Given the description of an element on the screen output the (x, y) to click on. 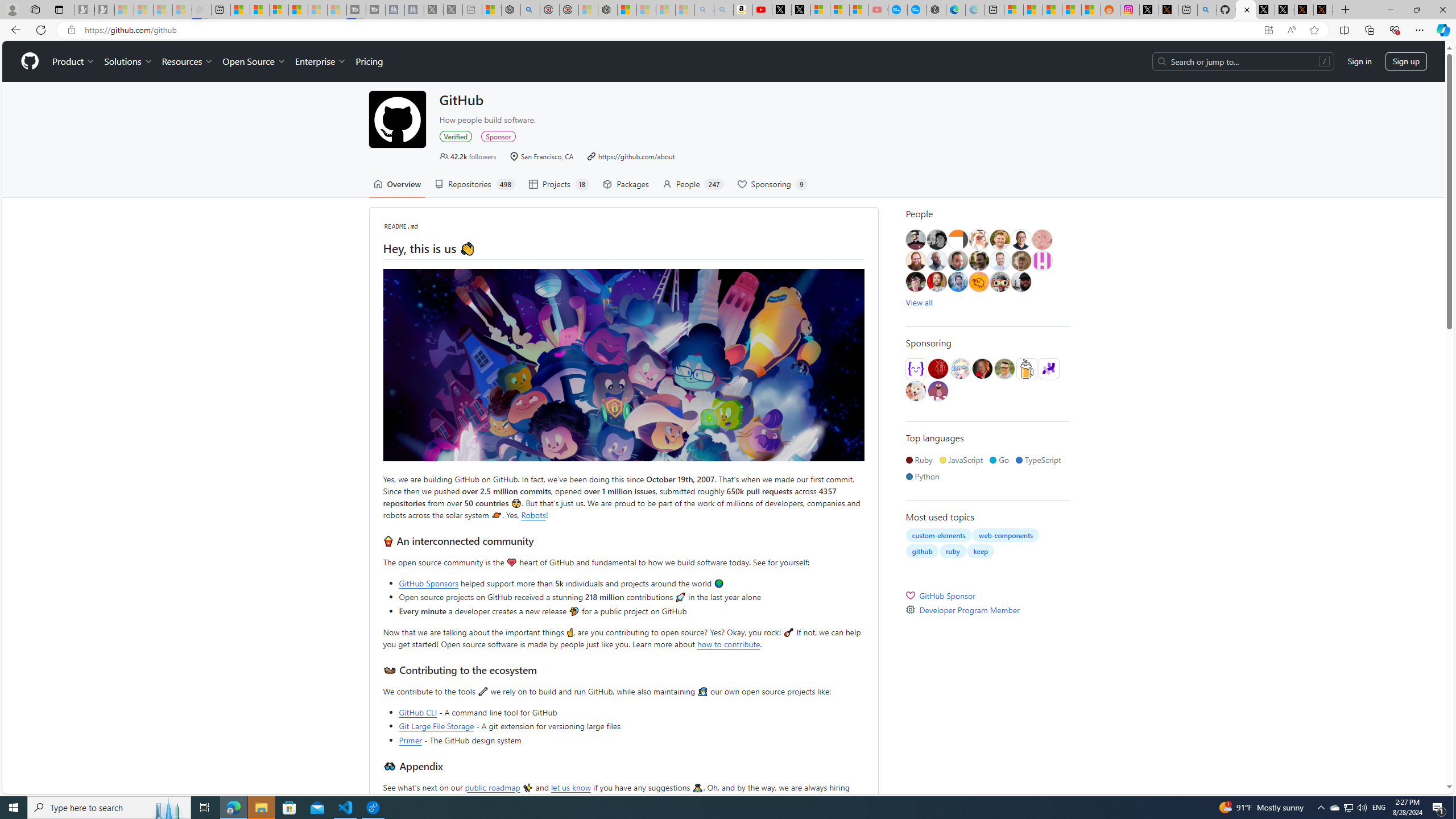
@jonmagic (936, 239)
custom-elements (938, 535)
@tannerlinsley (1004, 368)
Projects 18 (559, 184)
@kdaigle (1020, 239)
Amazon Echo Dot PNG - Search Images - Sleeping (723, 9)
Pricing (368, 60)
@look (957, 281)
Python (924, 476)
JavaScript (963, 459)
